Given the description of an element on the screen output the (x, y) to click on. 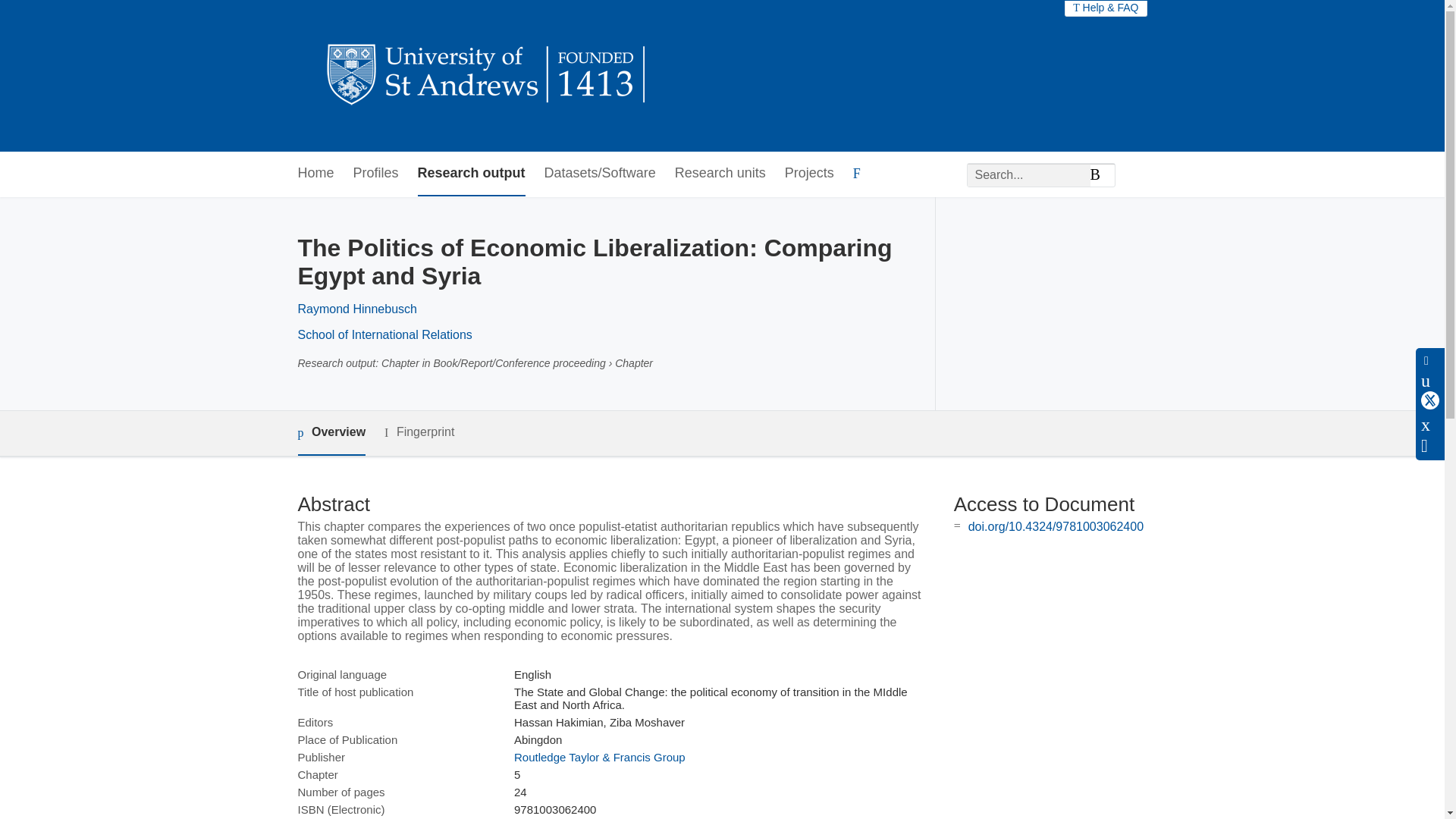
Fingerprint (419, 432)
Raymond Hinnebusch (356, 308)
School of International Relations (384, 334)
Research output (471, 173)
Projects (809, 173)
University of St Andrews Research Portal Home (487, 75)
Profiles (375, 173)
Overview (331, 433)
Research units (720, 173)
